Given the description of an element on the screen output the (x, y) to click on. 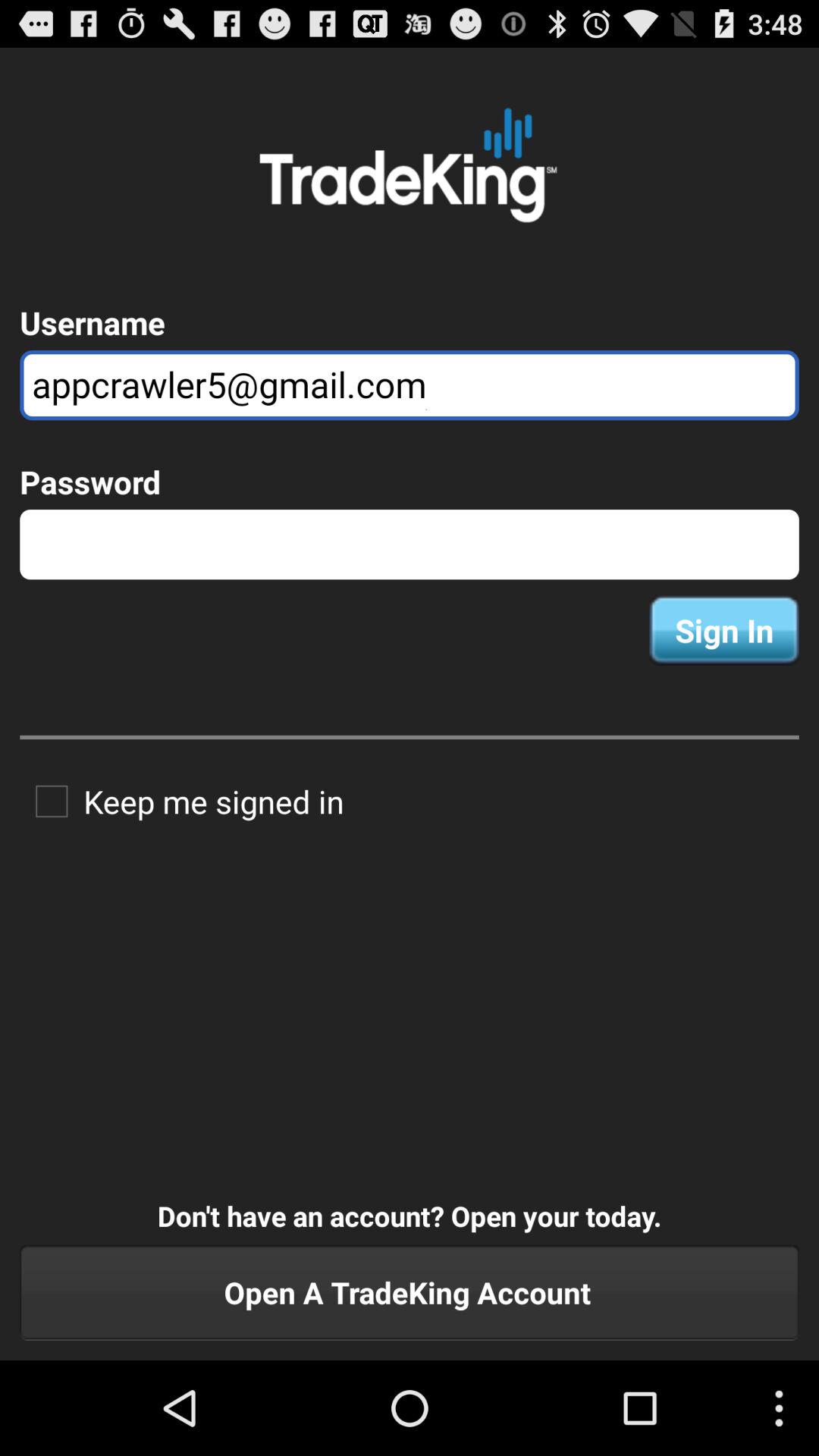
click item above the sign in icon (409, 544)
